Given the description of an element on the screen output the (x, y) to click on. 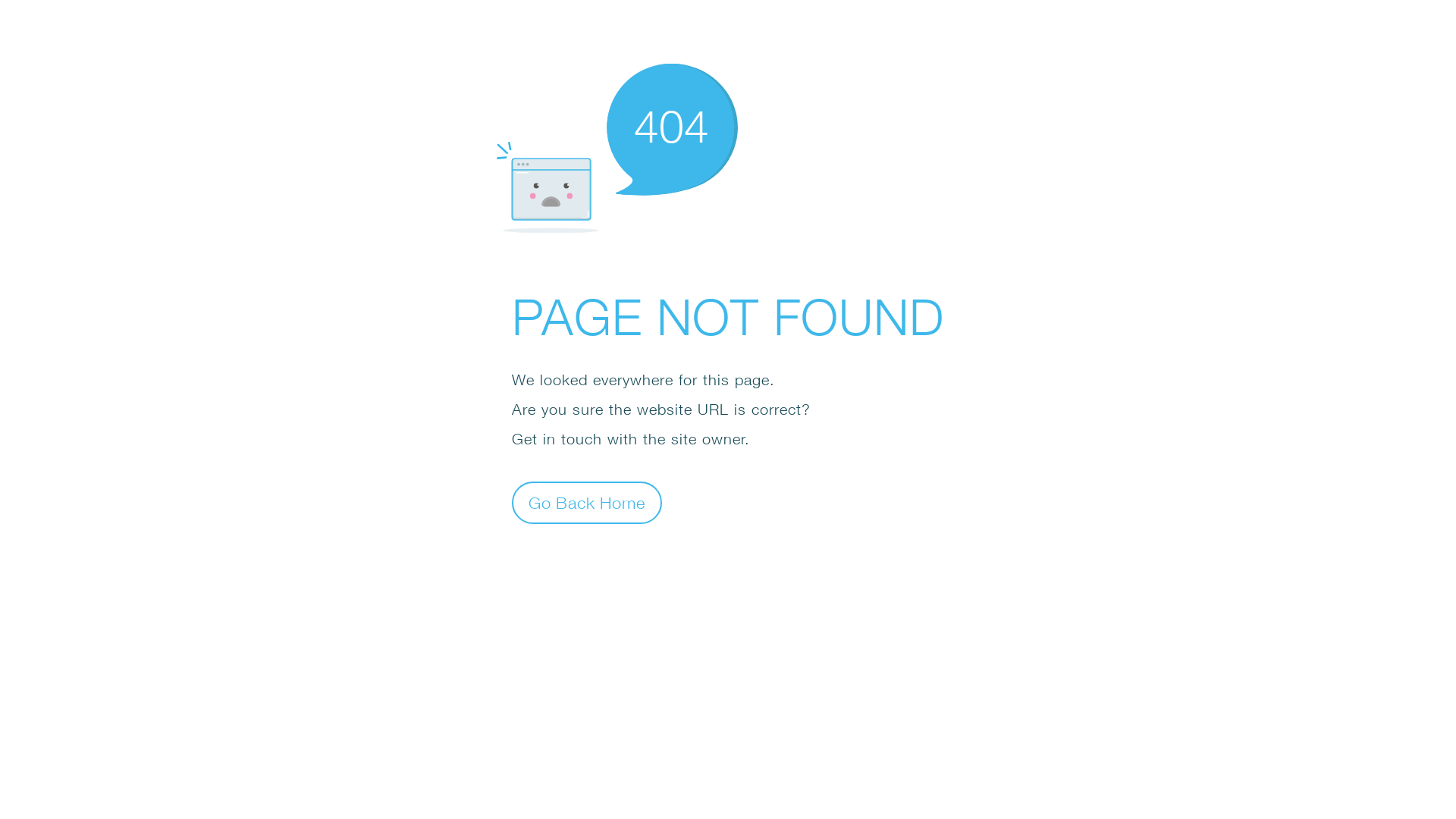
Go Back Home Element type: text (586, 502)
